Given the description of an element on the screen output the (x, y) to click on. 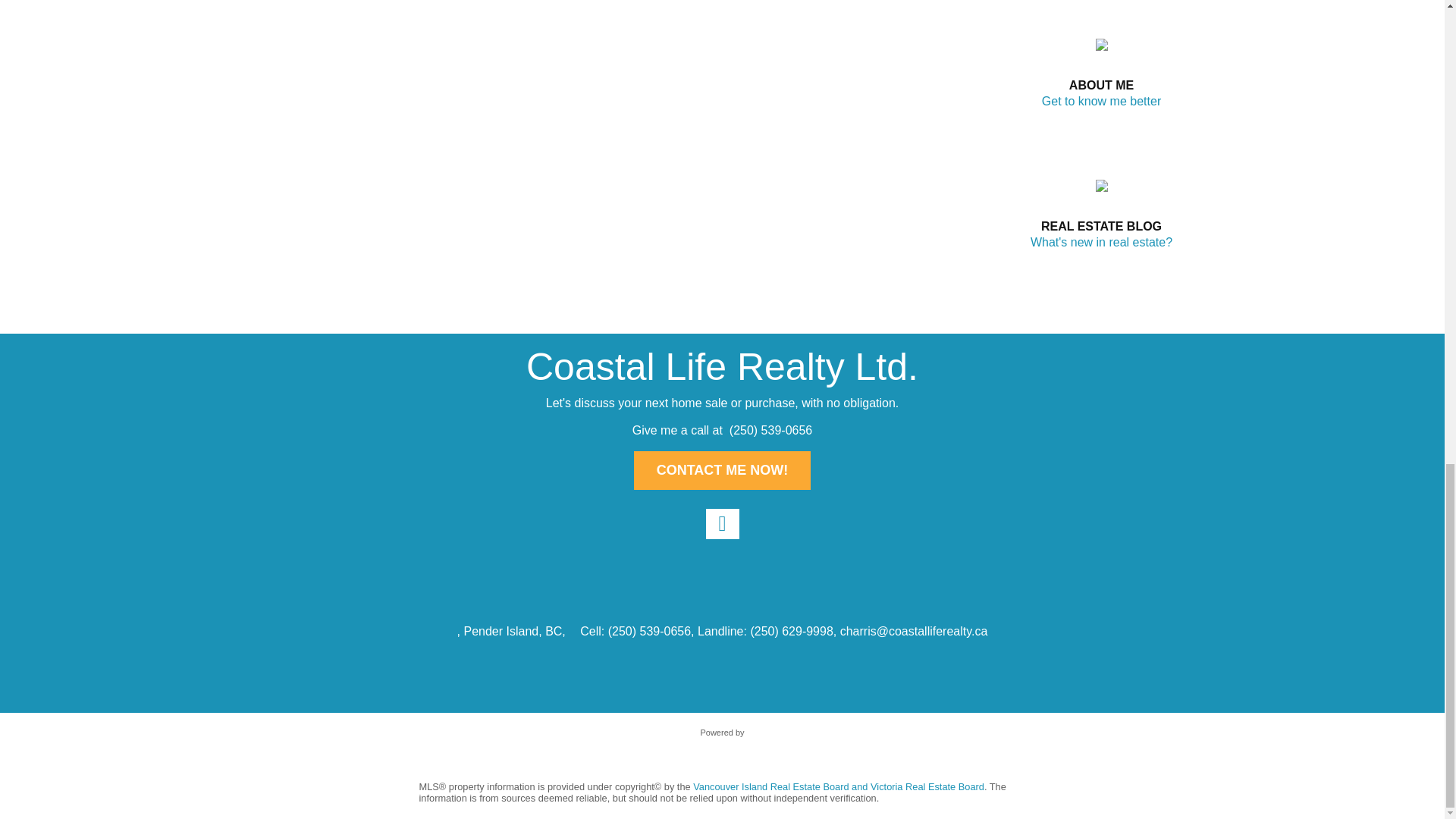
myRealPage.com (722, 747)
What's new in real estate? (1101, 241)
Get to know me better (1101, 101)
CONTACT ME NOW! (721, 470)
